Given the description of an element on the screen output the (x, y) to click on. 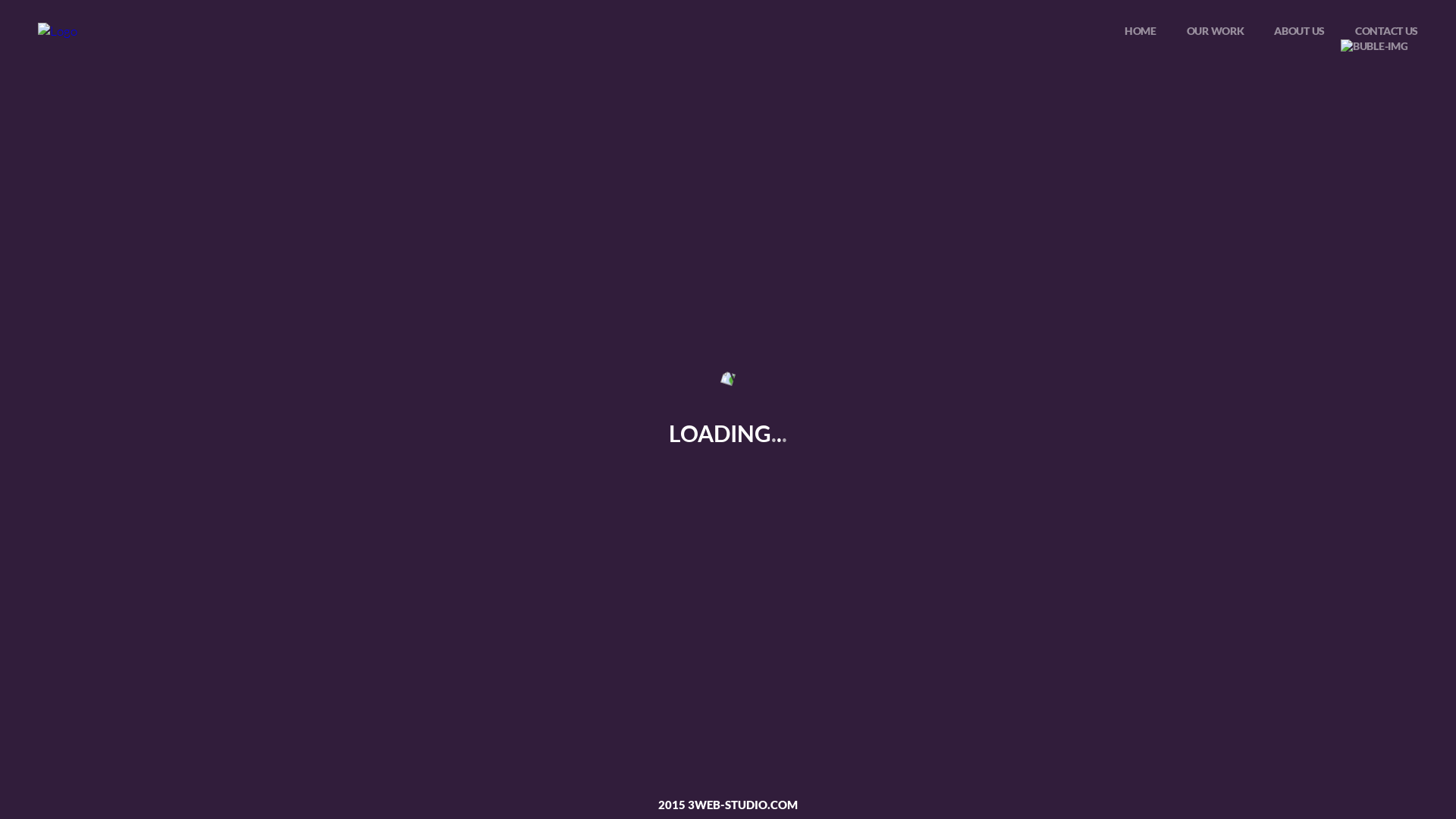
ABOUT US Element type: text (1299, 30)
HOME Element type: text (1140, 30)
OUR WORK Element type: text (1215, 30)
CONTACT US Element type: text (1386, 30)
